Given the description of an element on the screen output the (x, y) to click on. 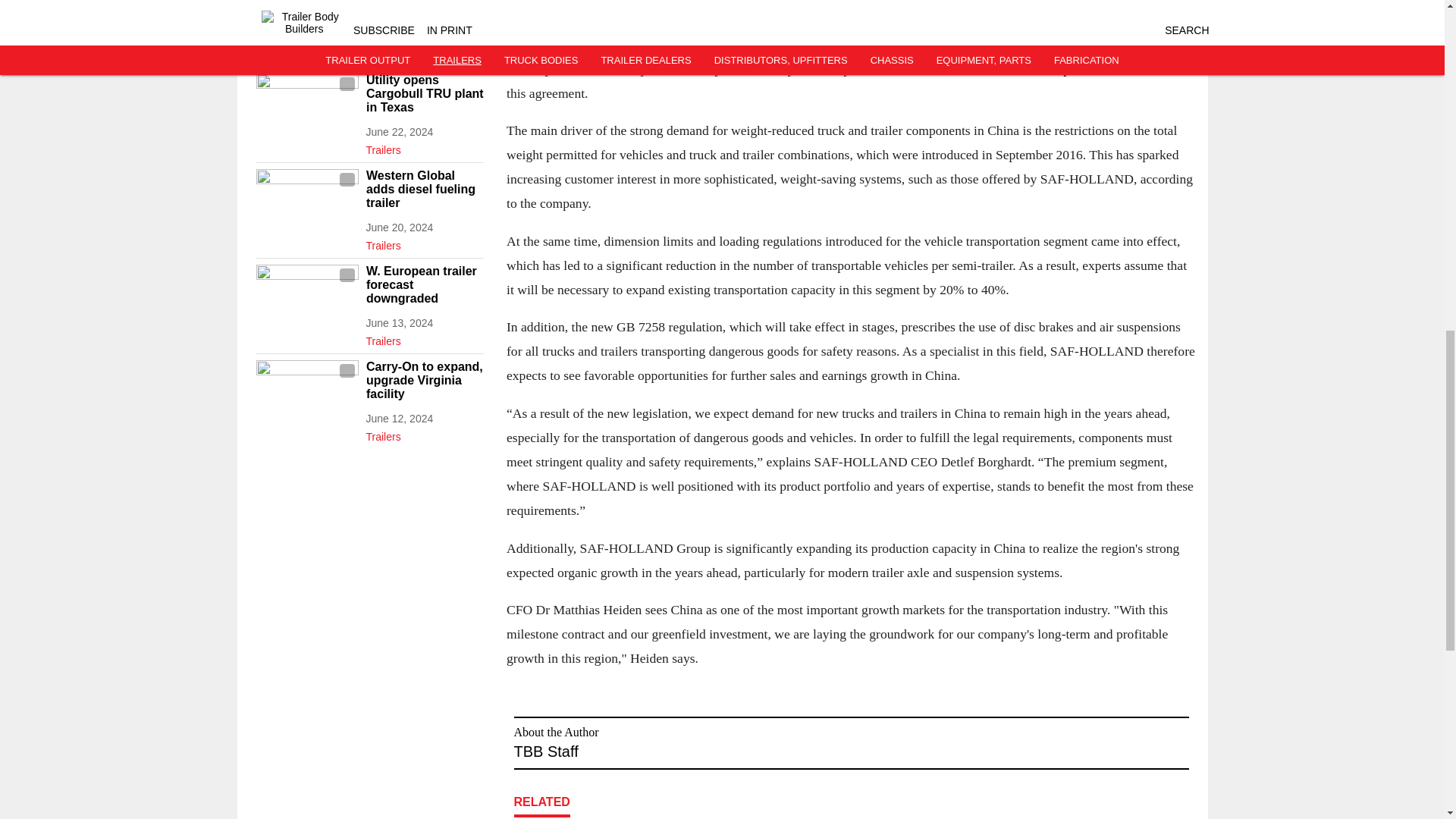
Western Global adds diesel fueling trailer (424, 188)
AEM Manufacturing Express to visit Felling (424, 9)
Trailers (424, 242)
Trailers (424, 434)
Trailers (424, 51)
Utility opens Cargobull TRU plant in Texas (424, 93)
Trailers (424, 338)
Trailers (424, 147)
Carry-On to expand, upgrade Virginia facility (424, 380)
W. European trailer forecast downgraded (424, 284)
